Given the description of an element on the screen output the (x, y) to click on. 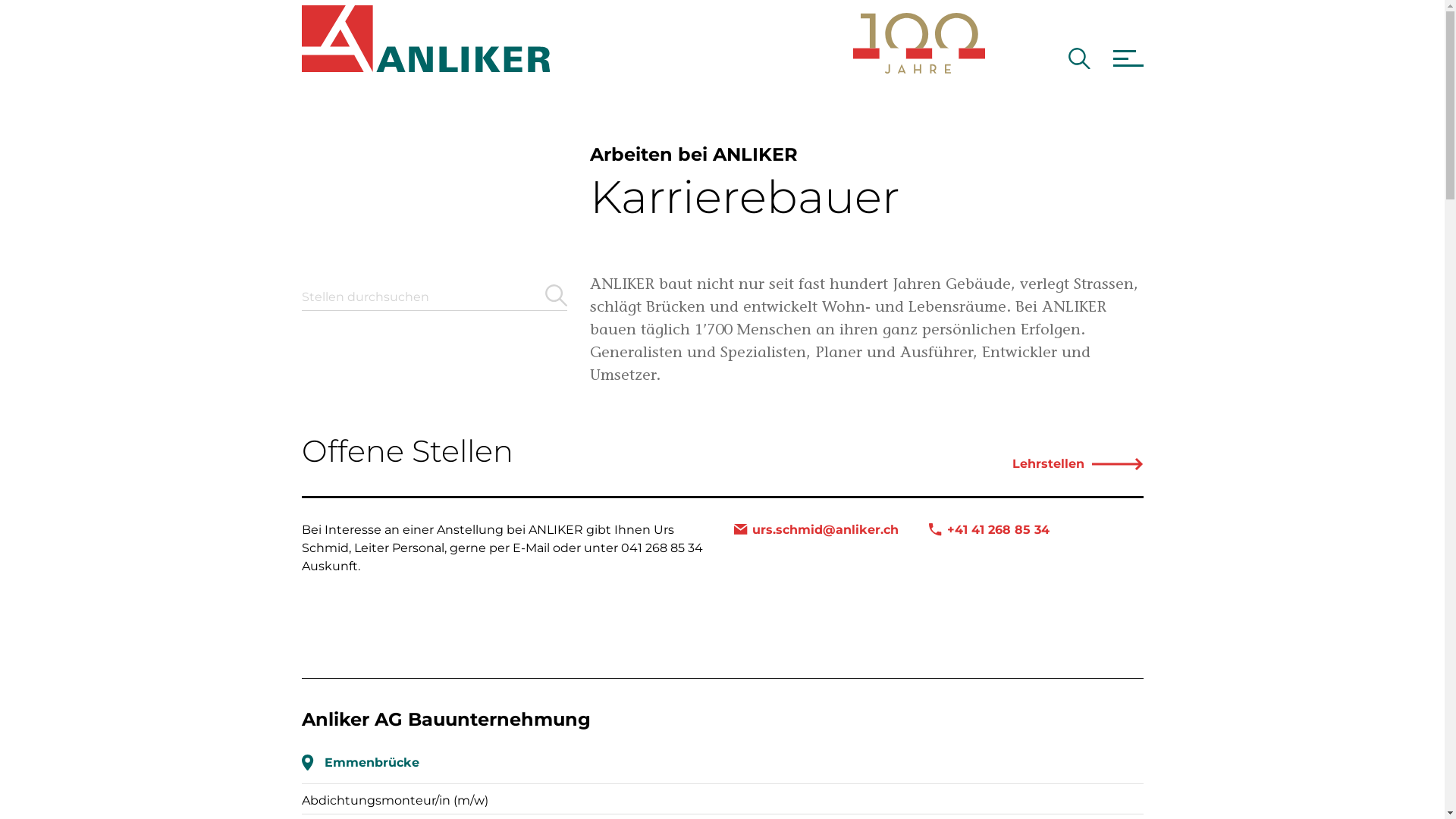
Abdichtungsmonteur/in (m/w) Element type: text (394, 800)
urs.schmid@anliker.ch Element type: text (816, 529)
+41 41 268 85 34 Element type: text (988, 529)
Lehrstellen Element type: text (1077, 464)
